Given the description of an element on the screen output the (x, y) to click on. 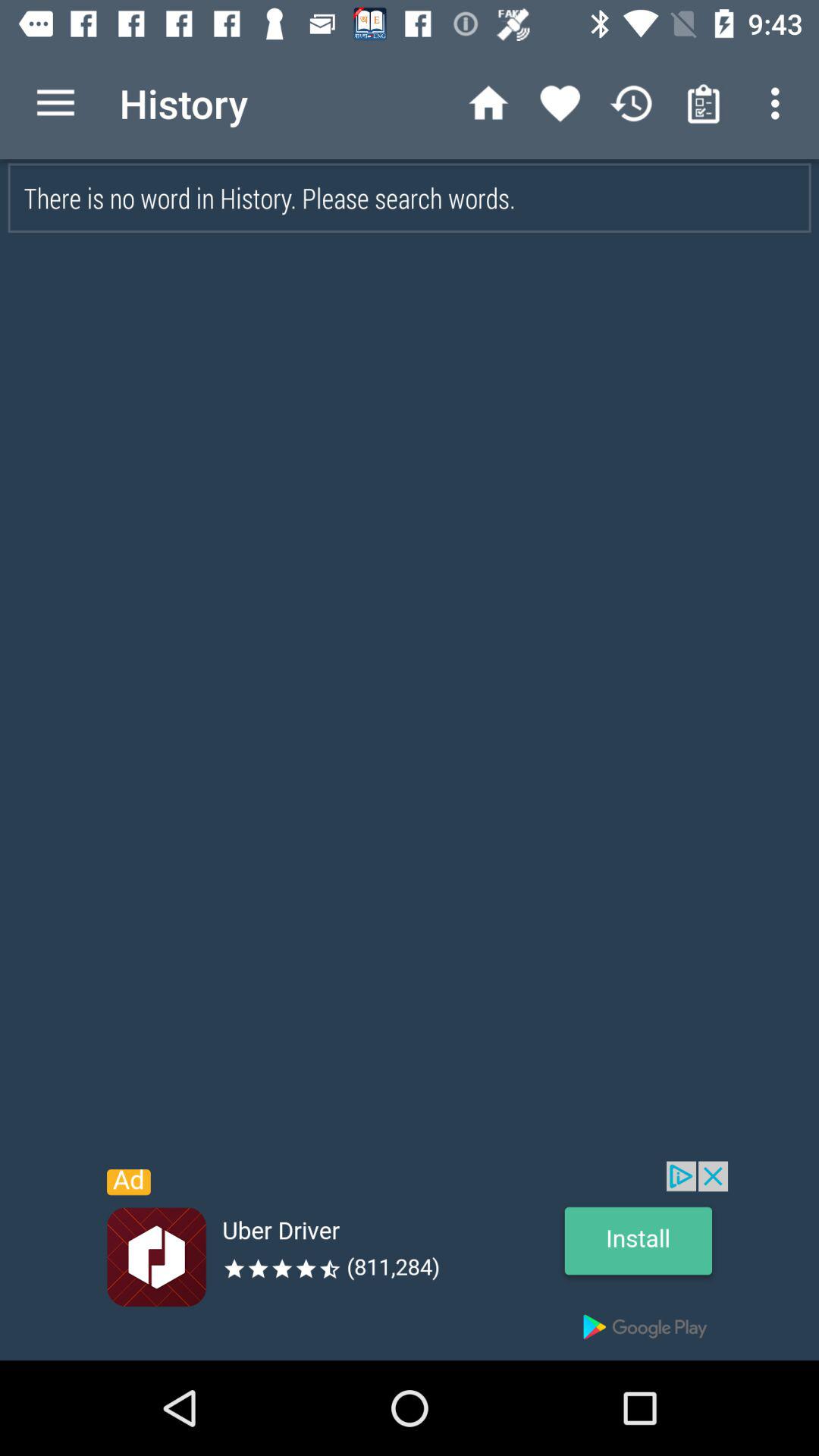
advertisement button (409, 1260)
